Given the description of an element on the screen output the (x, y) to click on. 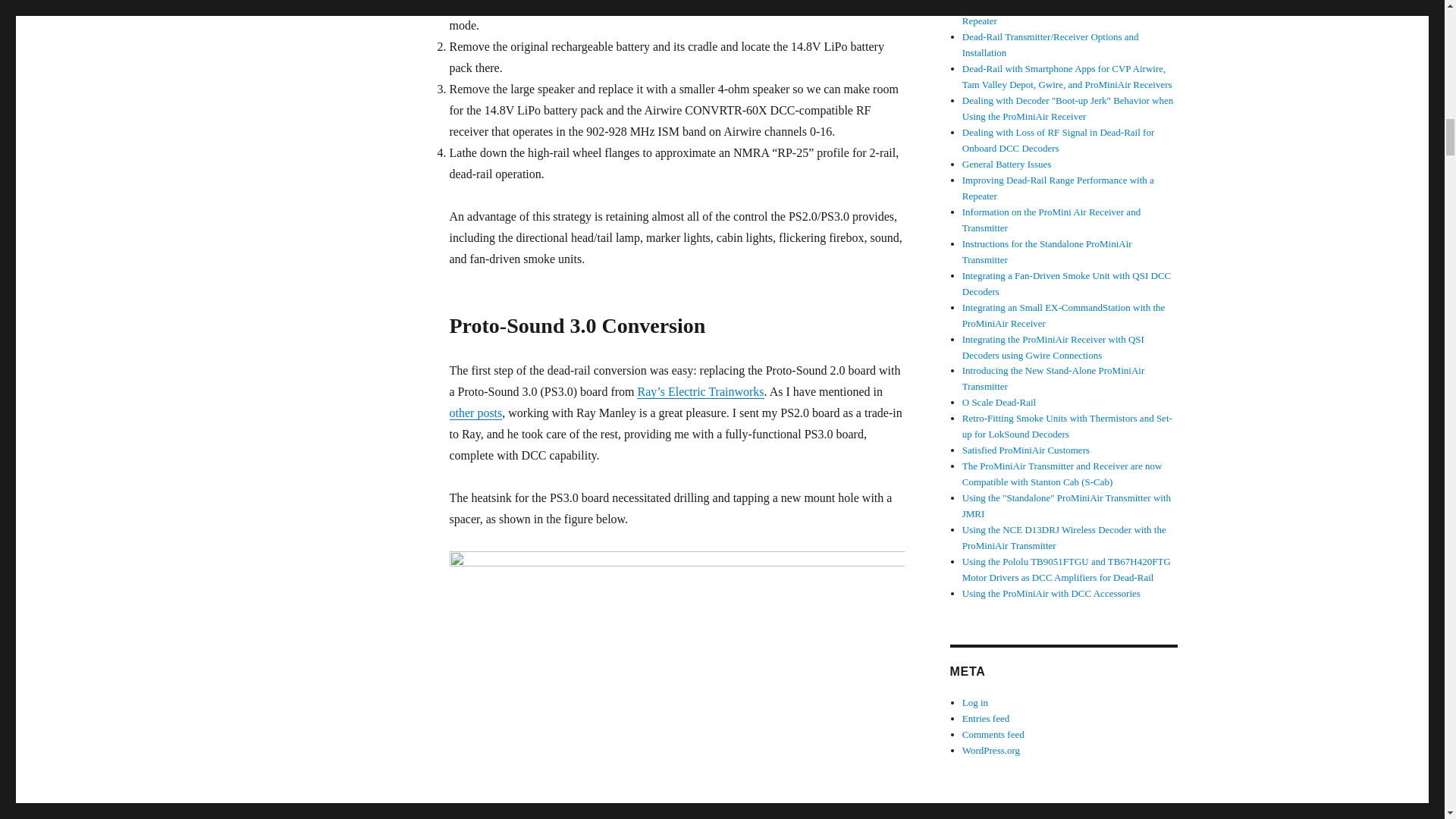
other posts (475, 412)
